Given the description of an element on the screen output the (x, y) to click on. 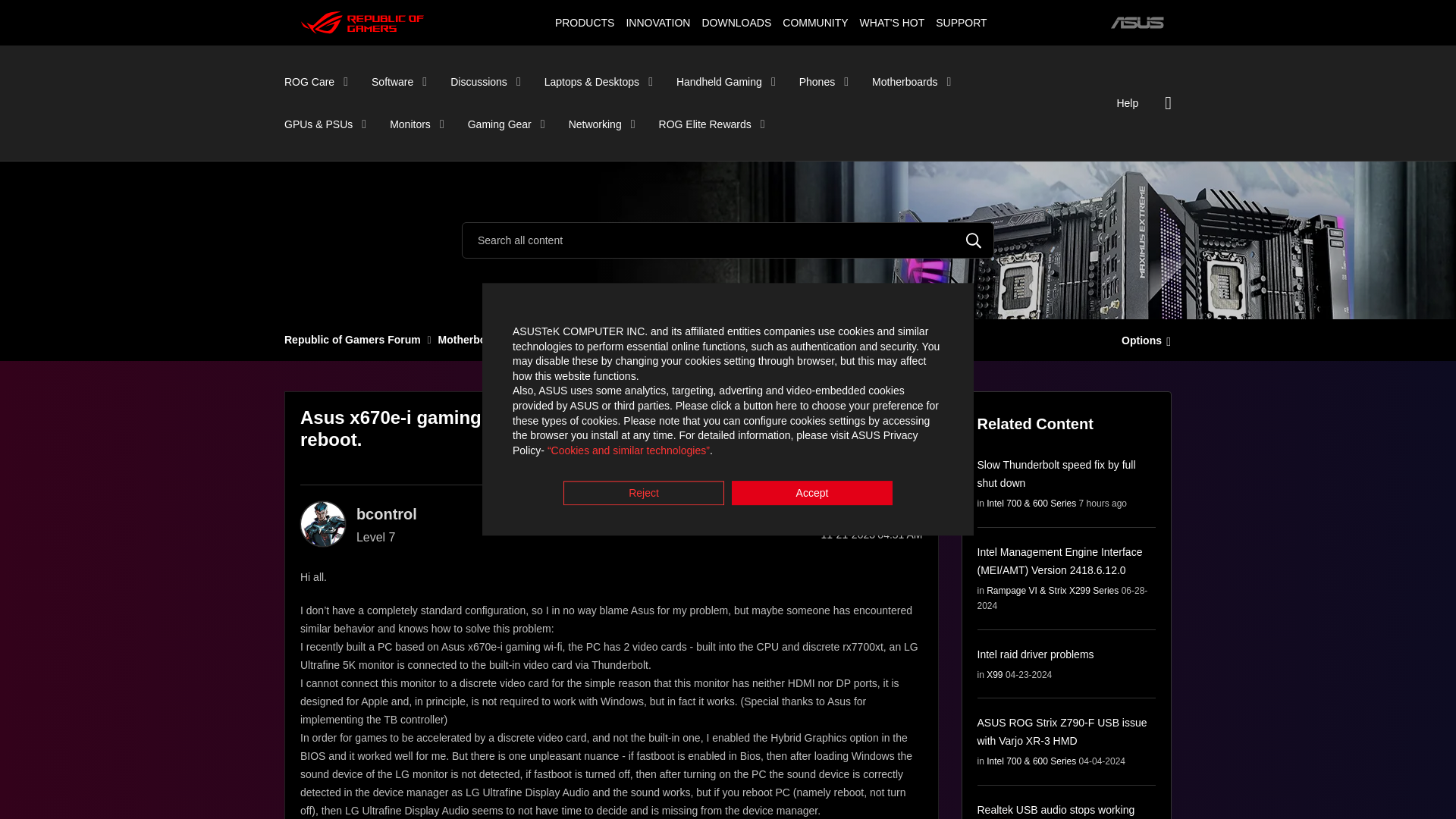
INNOVATION (657, 22)
Search (727, 239)
bcontrol (322, 524)
Search (973, 239)
Show option menu (1142, 339)
DOWNLOADS (736, 22)
Search (973, 239)
COMMUNITY (815, 22)
PRODUCTS (584, 22)
